Given the description of an element on the screen output the (x, y) to click on. 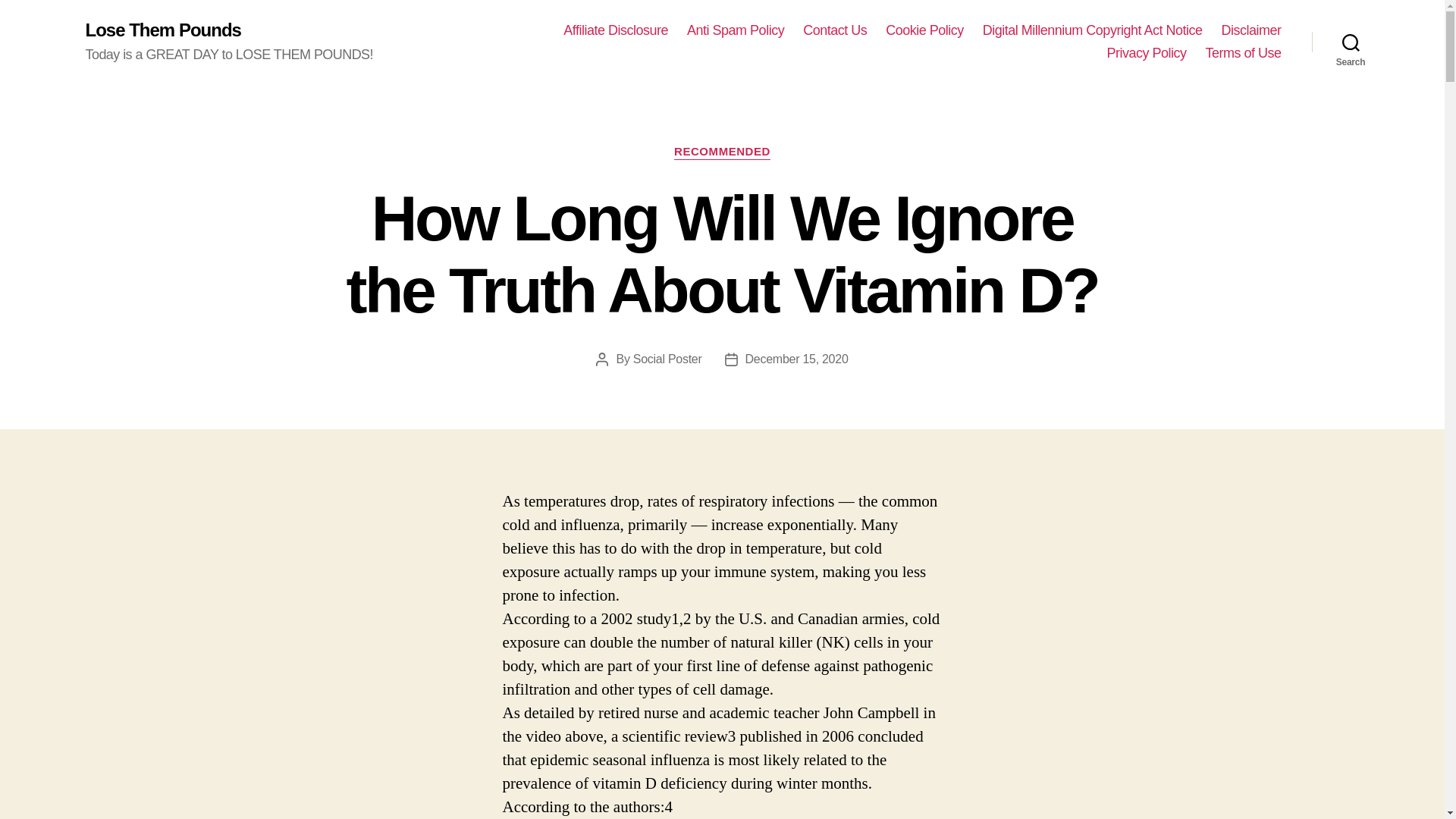
Disclaimer (1251, 30)
Anti Spam Policy (735, 30)
Social Poster (667, 358)
Cookie Policy (924, 30)
Search (1350, 41)
Affiliate Disclosure (615, 30)
Lose Them Pounds (162, 30)
December 15, 2020 (796, 358)
Digital Millennium Copyright Act Notice (1092, 30)
RECOMMENDED (722, 151)
